Given the description of an element on the screen output the (x, y) to click on. 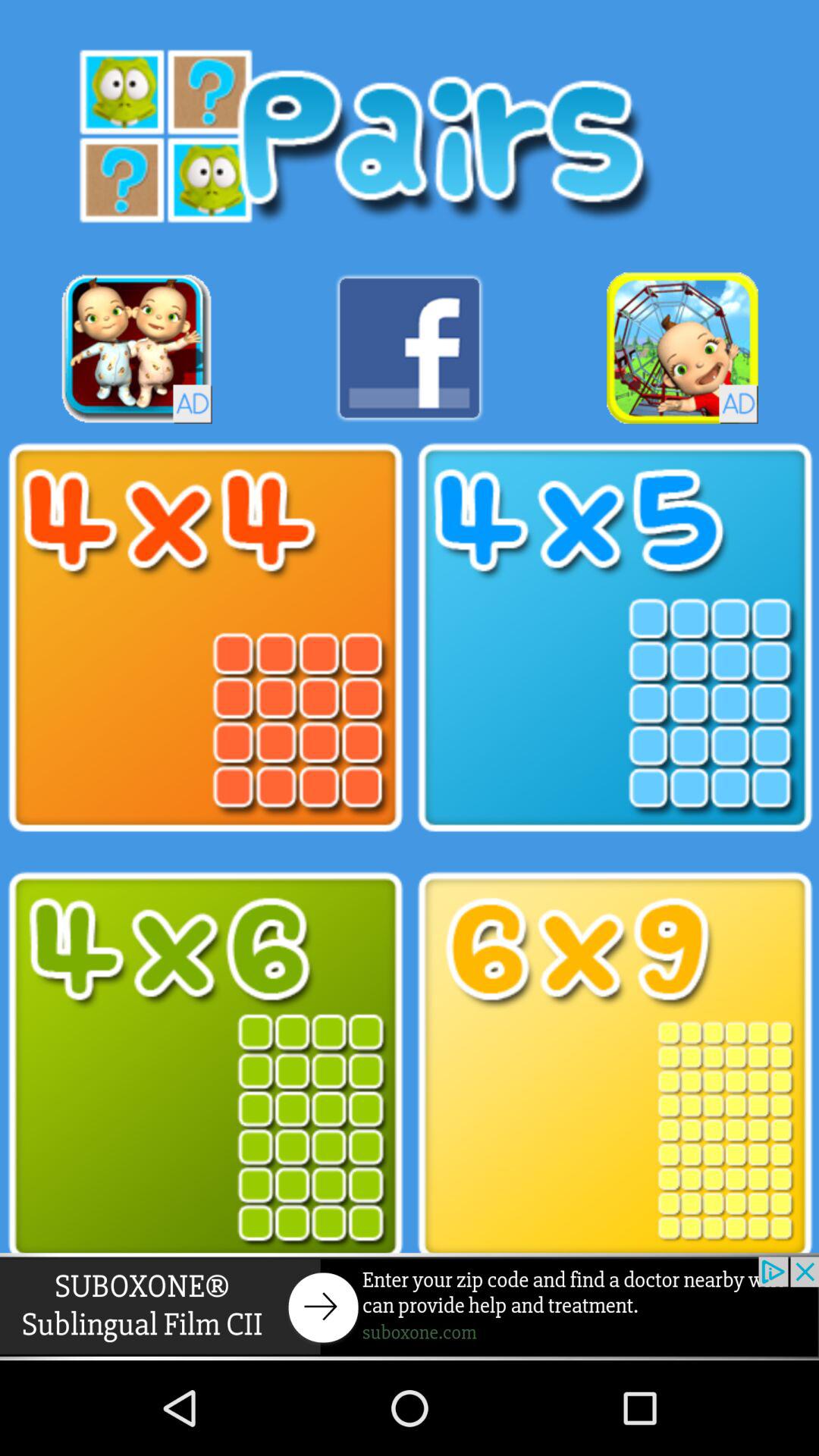
advertisement website link (409, 1306)
